Given the description of an element on the screen output the (x, y) to click on. 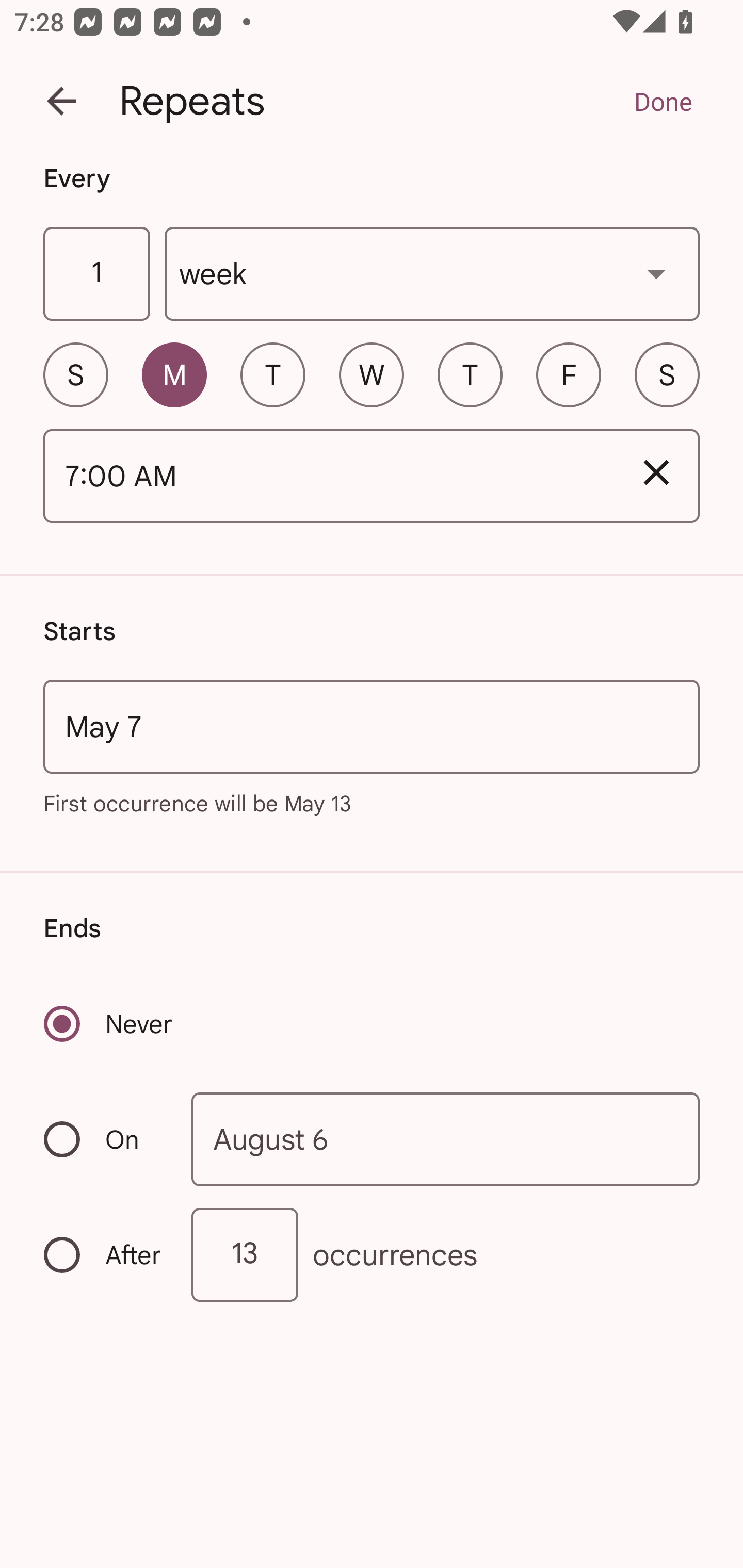
Back (61, 101)
Done (663, 101)
1 (96, 274)
week (431, 274)
Show dropdown menu (655, 273)
S Sunday (75, 374)
M Monday, selected (173, 374)
T Tuesday (272, 374)
W Wednesday (371, 374)
T Thursday (469, 374)
F Friday (568, 374)
S Saturday (666, 374)
7:00 AM (327, 476)
Remove 7:00 AM (655, 472)
May 7 (371, 726)
Never Recurrence never ends (109, 1023)
August 6 (445, 1139)
On Recurrence ends on a specific date (104, 1138)
13 (244, 1254)
